Given the description of an element on the screen output the (x, y) to click on. 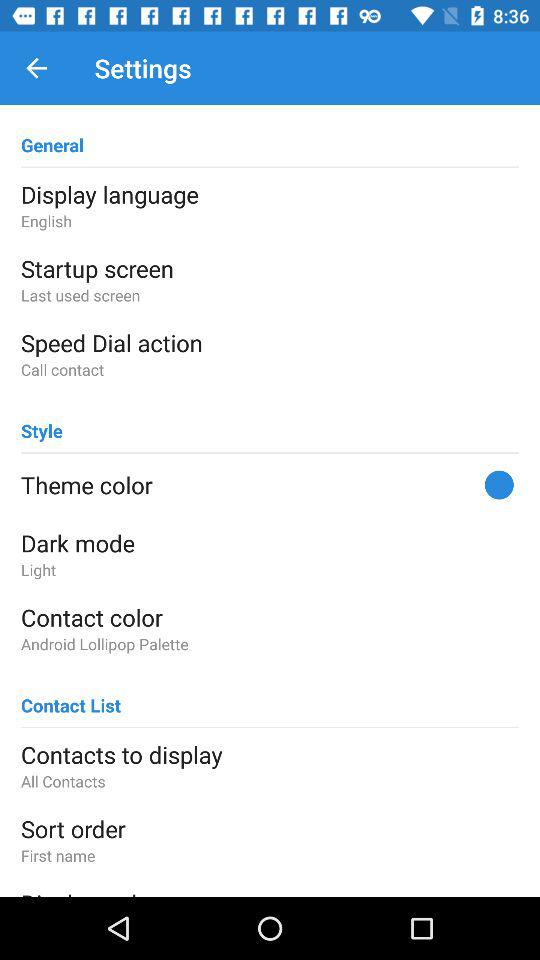
turn off sort order icon (270, 828)
